Given the description of an element on the screen output the (x, y) to click on. 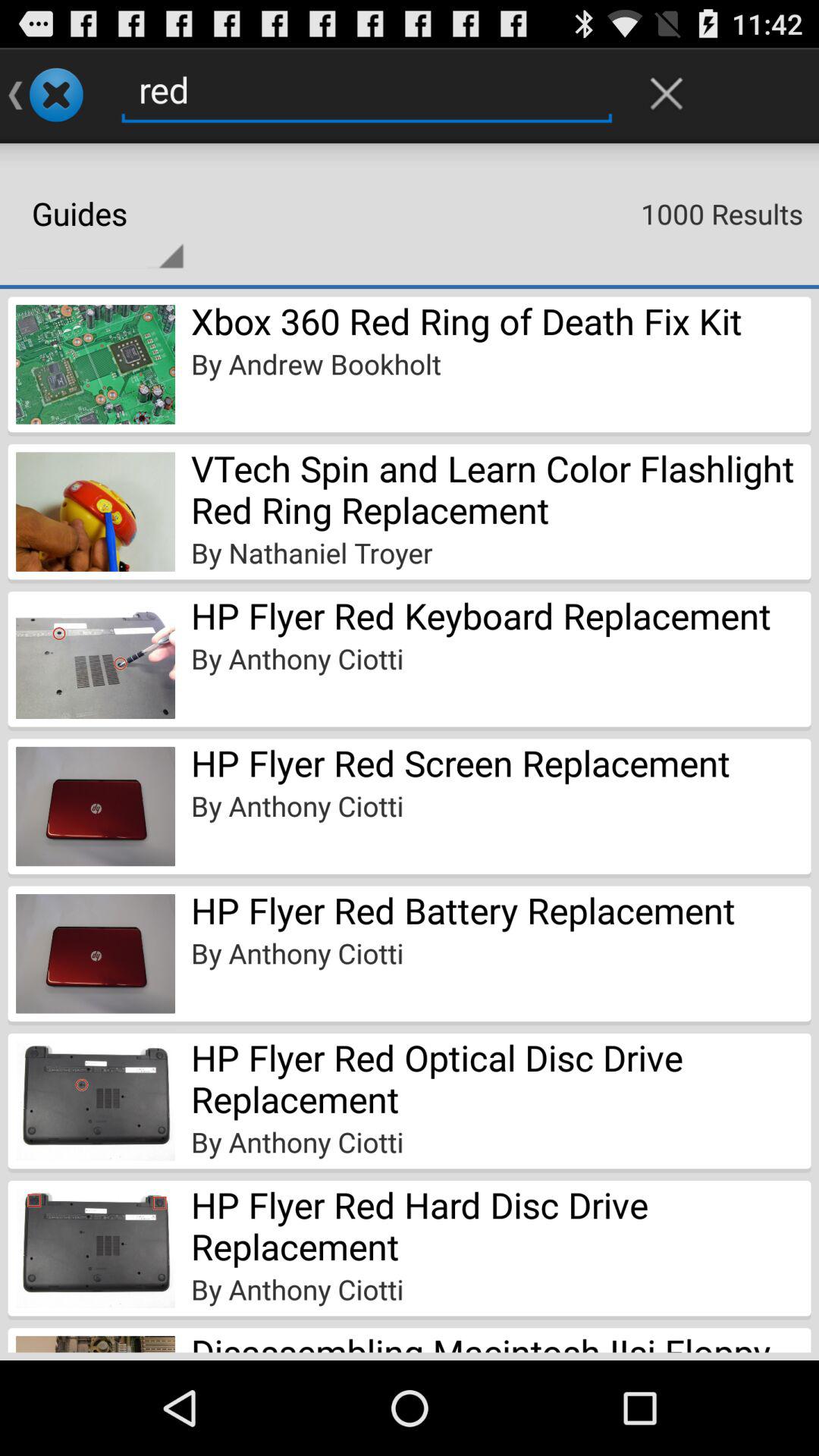
scroll until by andrew bookholt item (316, 363)
